Given the description of an element on the screen output the (x, y) to click on. 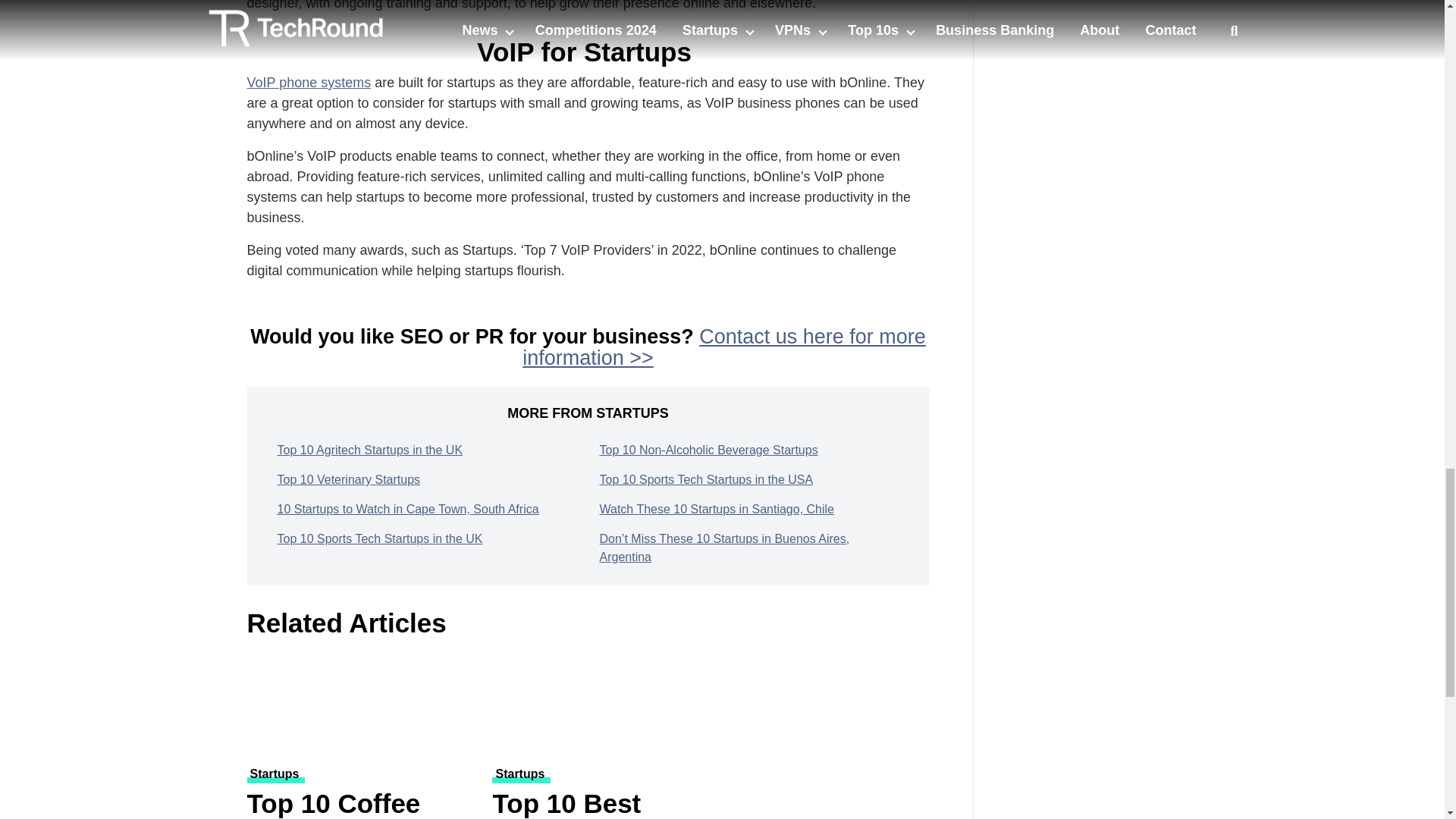
Top 10 Coffee Subscription Boxes (360, 804)
Enter The BAME Top 50 Entrepreneurs - Deadline 10th Nov 2021 (1107, 17)
Top 10 Coffee Subscription Boxes (360, 704)
